Given the description of an element on the screen output the (x, y) to click on. 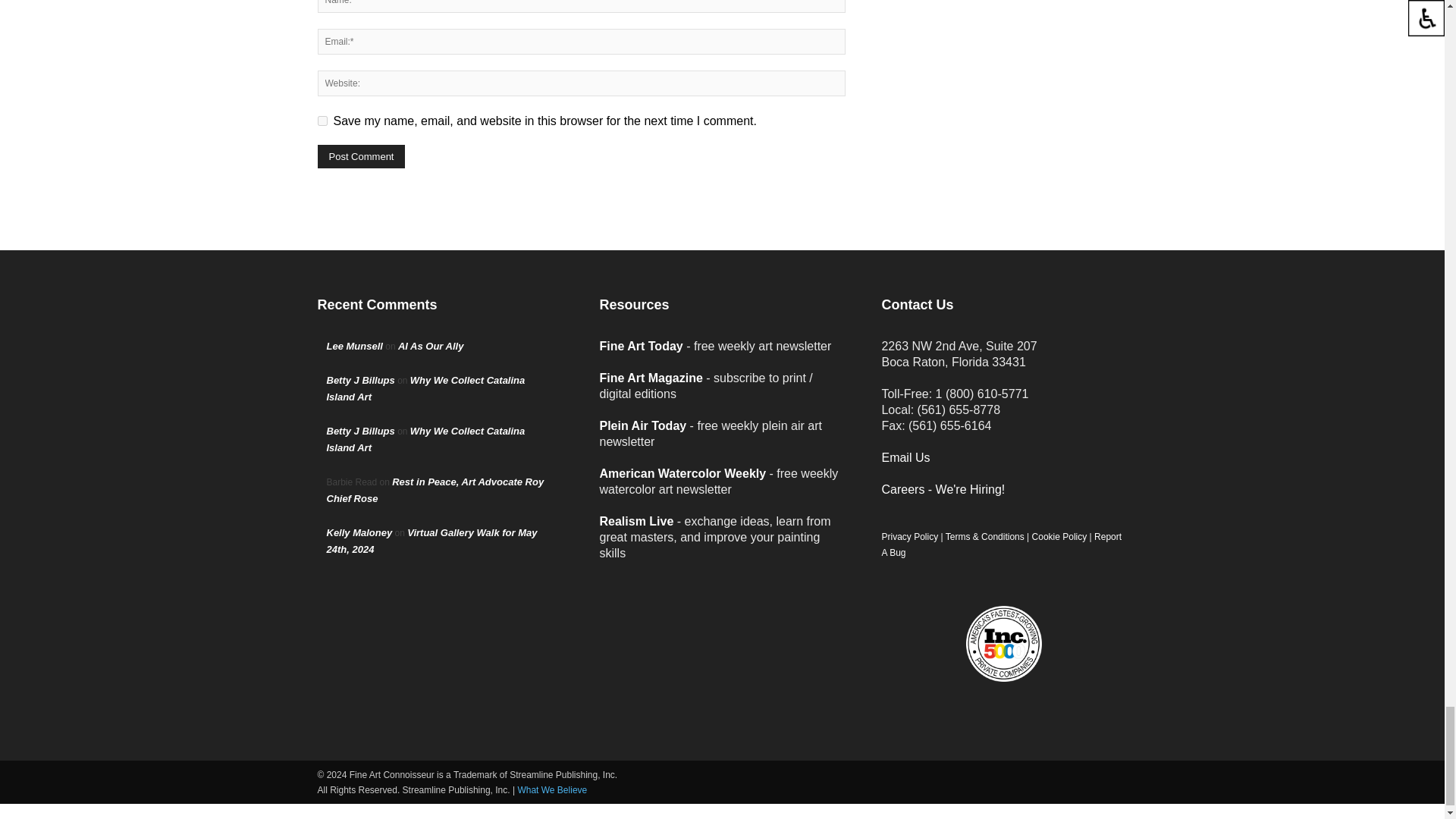
yes (321, 121)
Post Comment (360, 156)
